Given the description of an element on the screen output the (x, y) to click on. 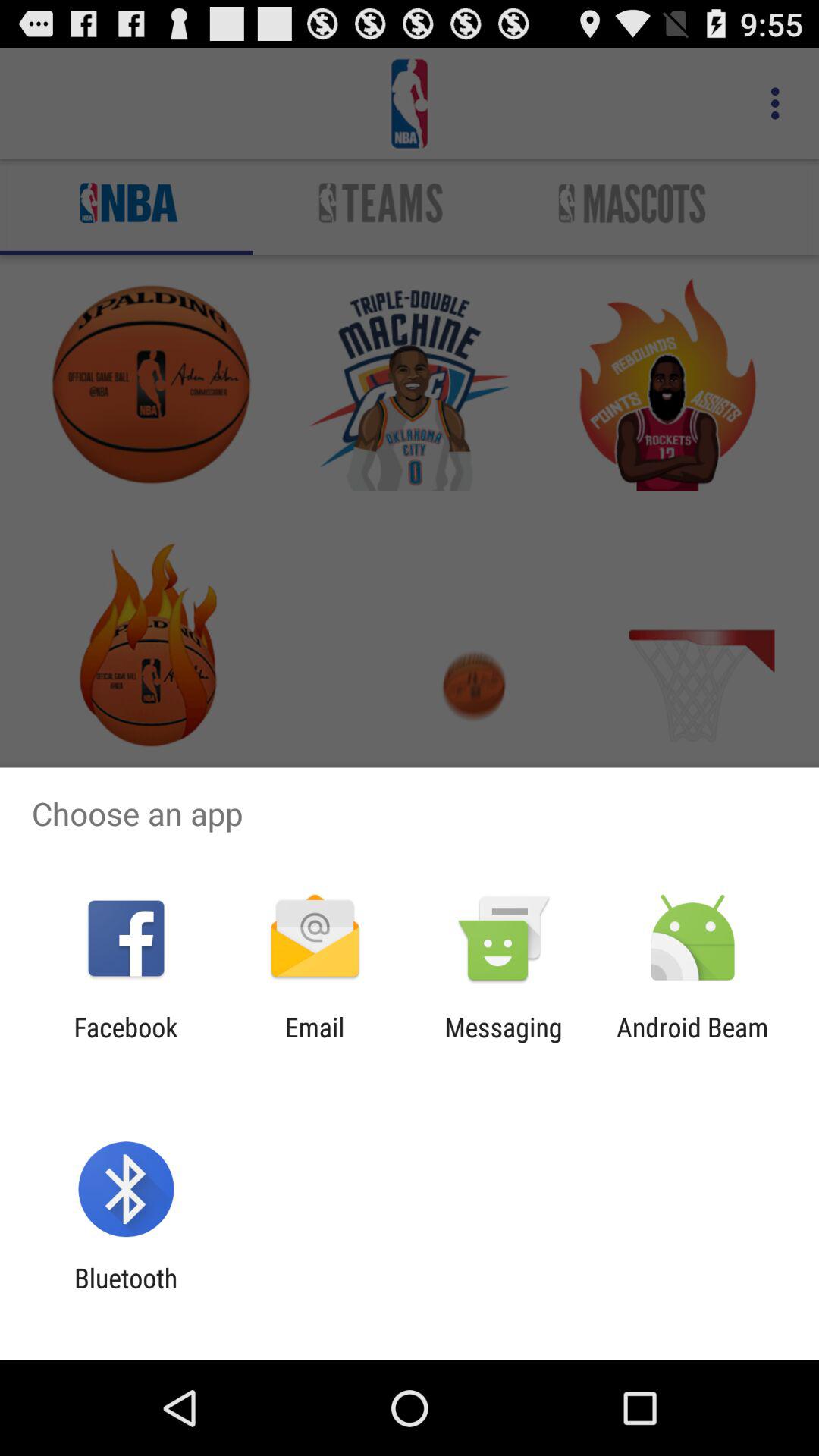
open facebook icon (125, 1042)
